Given the description of an element on the screen output the (x, y) to click on. 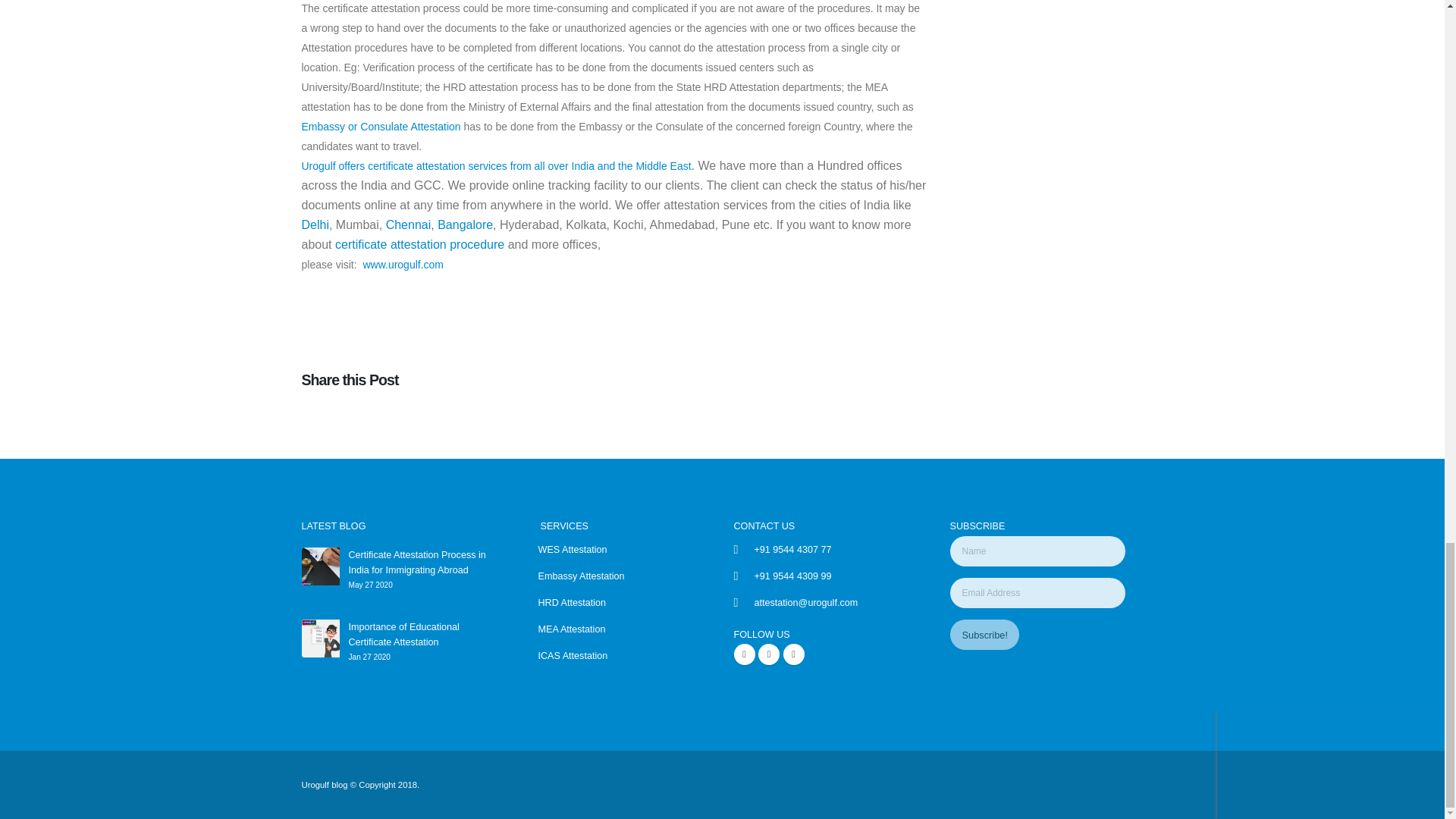
Linkedin (793, 654)
Facebook (744, 654)
Subscribe! (983, 634)
Twitter (768, 654)
